Given the description of an element on the screen output the (x, y) to click on. 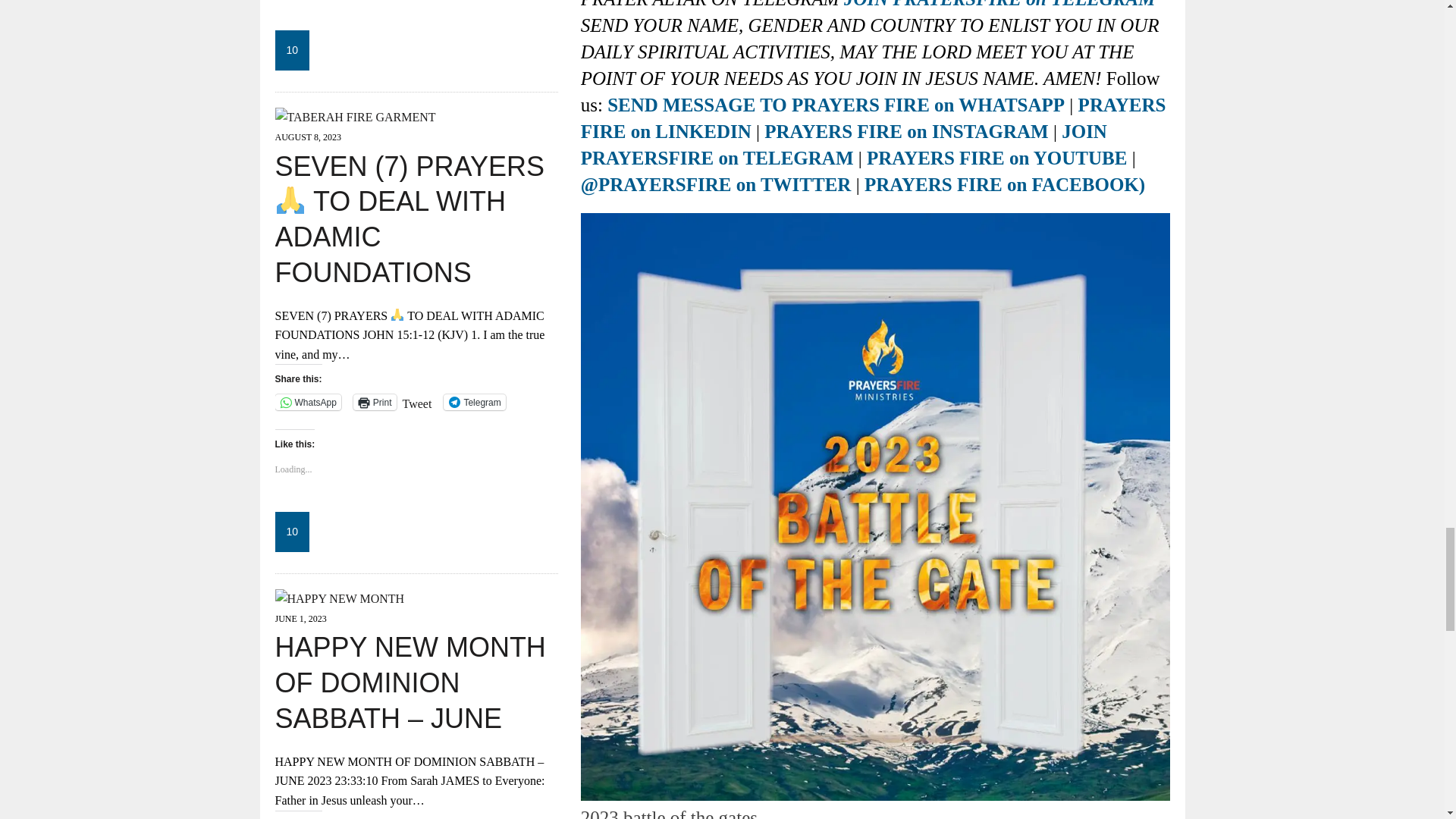
PRAYERS FIRE on YOUTUBE (996, 158)
PRAYERS FIRE on LINKEDIN (873, 118)
JOIN PRAYERSFIRE on TELEGRAM (843, 144)
JOIN PRAYERSFIRE on TELEGRAM (1000, 4)
PRAYERS FIRE on INSTAGRAM (906, 131)
SEND MESSAGE TO PRAYERS FIRE on WHATSAPP (835, 105)
